Given the description of an element on the screen output the (x, y) to click on. 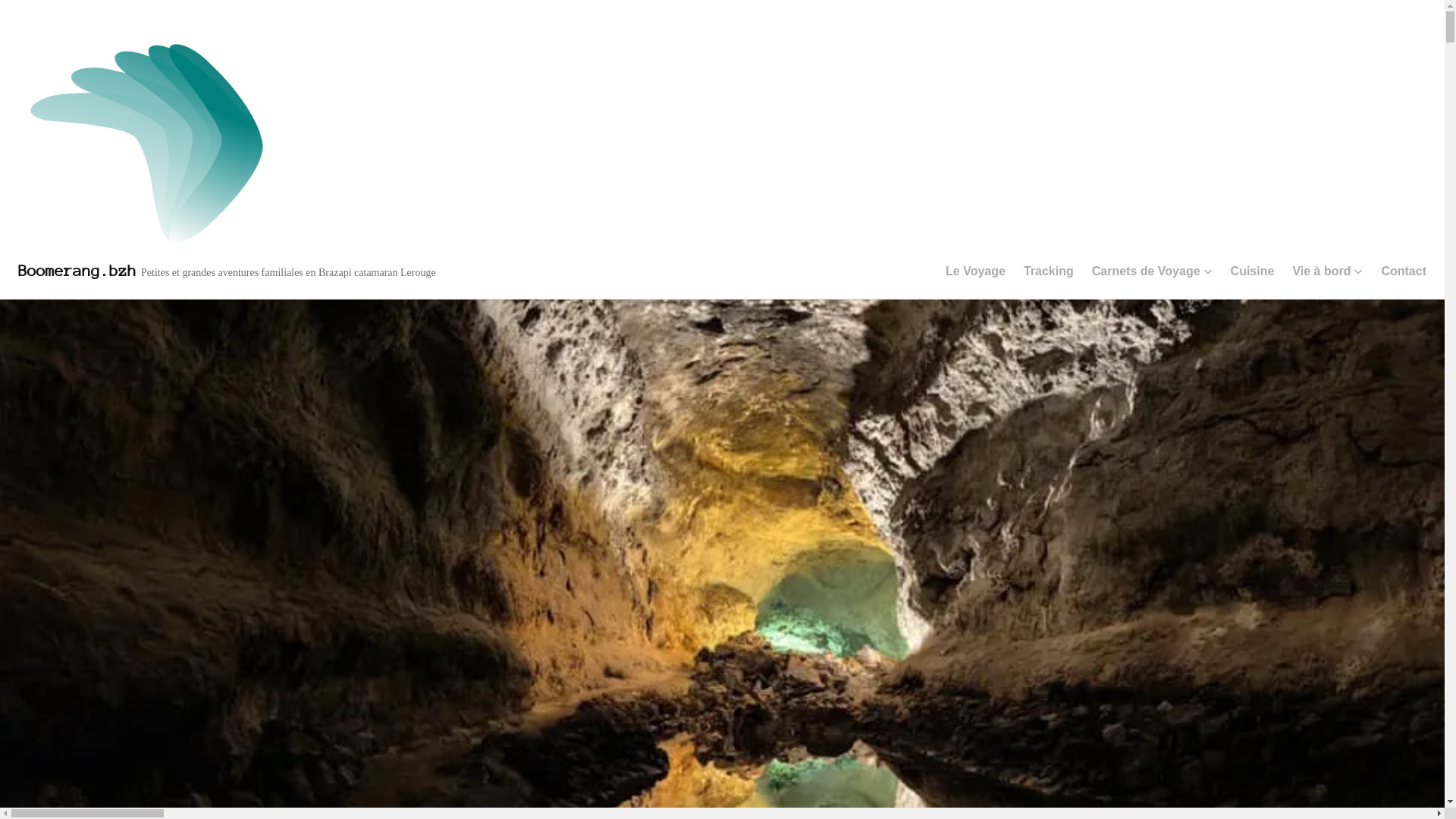
Carnets de Voyage Element type: text (1152, 271)
Contact Element type: text (1403, 271)
Boomerang.bzh Element type: text (77, 270)
Tracking Element type: text (1048, 271)
Le Voyage Element type: text (975, 271)
Cuisine Element type: text (1252, 271)
